Given the description of an element on the screen output the (x, y) to click on. 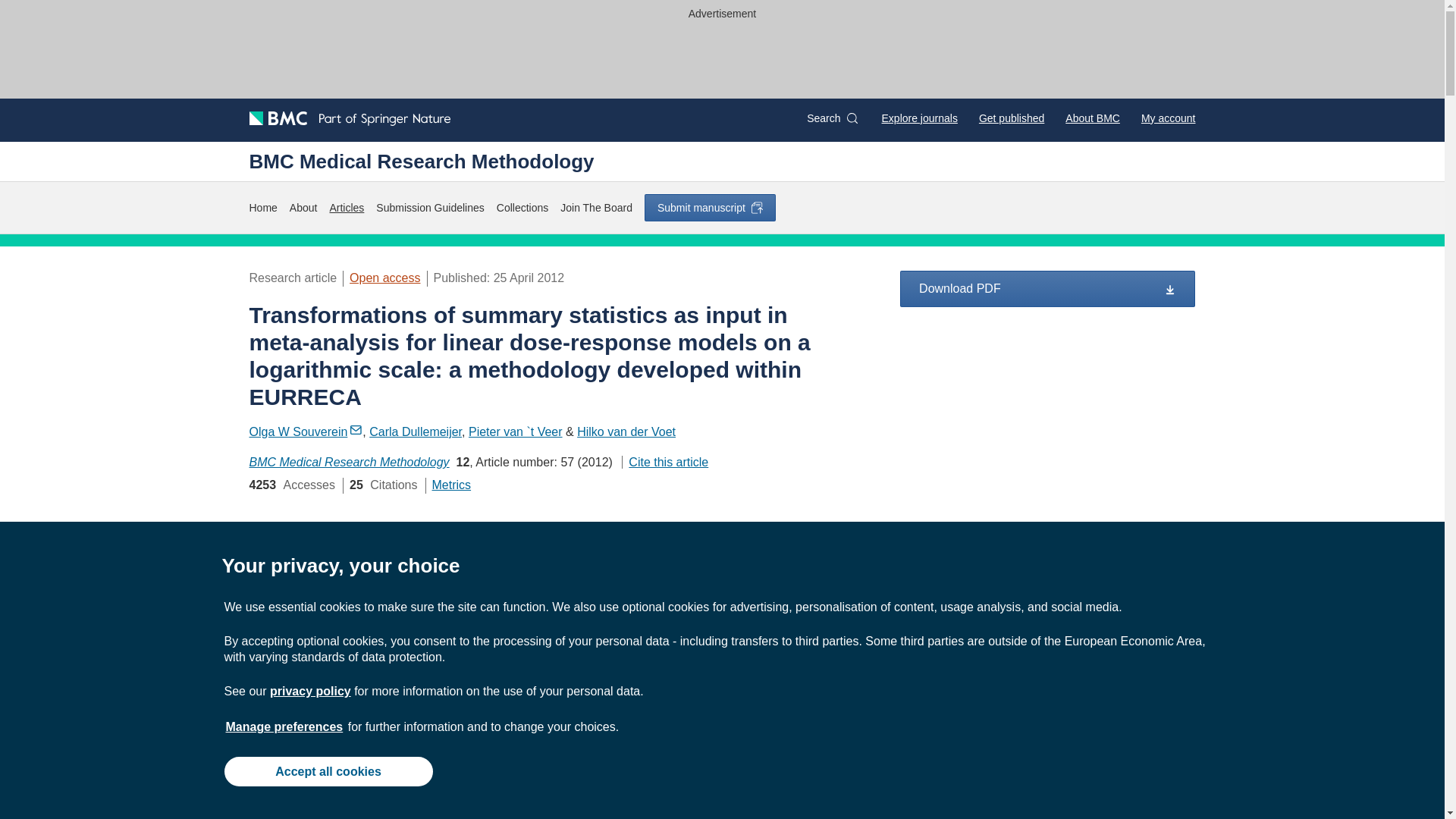
Get published (1010, 118)
BMC Medical Research Methodology (421, 160)
About (303, 208)
Submission Guidelines (429, 208)
Open access (384, 277)
My account (1168, 118)
Carla Dullemeijer (415, 431)
Collections (522, 208)
Manage preferences (284, 726)
Home (262, 208)
Search (831, 118)
About BMC (1092, 118)
Explore journals (920, 118)
Submit manuscript (710, 207)
Olga W Souverein (305, 431)
